Given the description of an element on the screen output the (x, y) to click on. 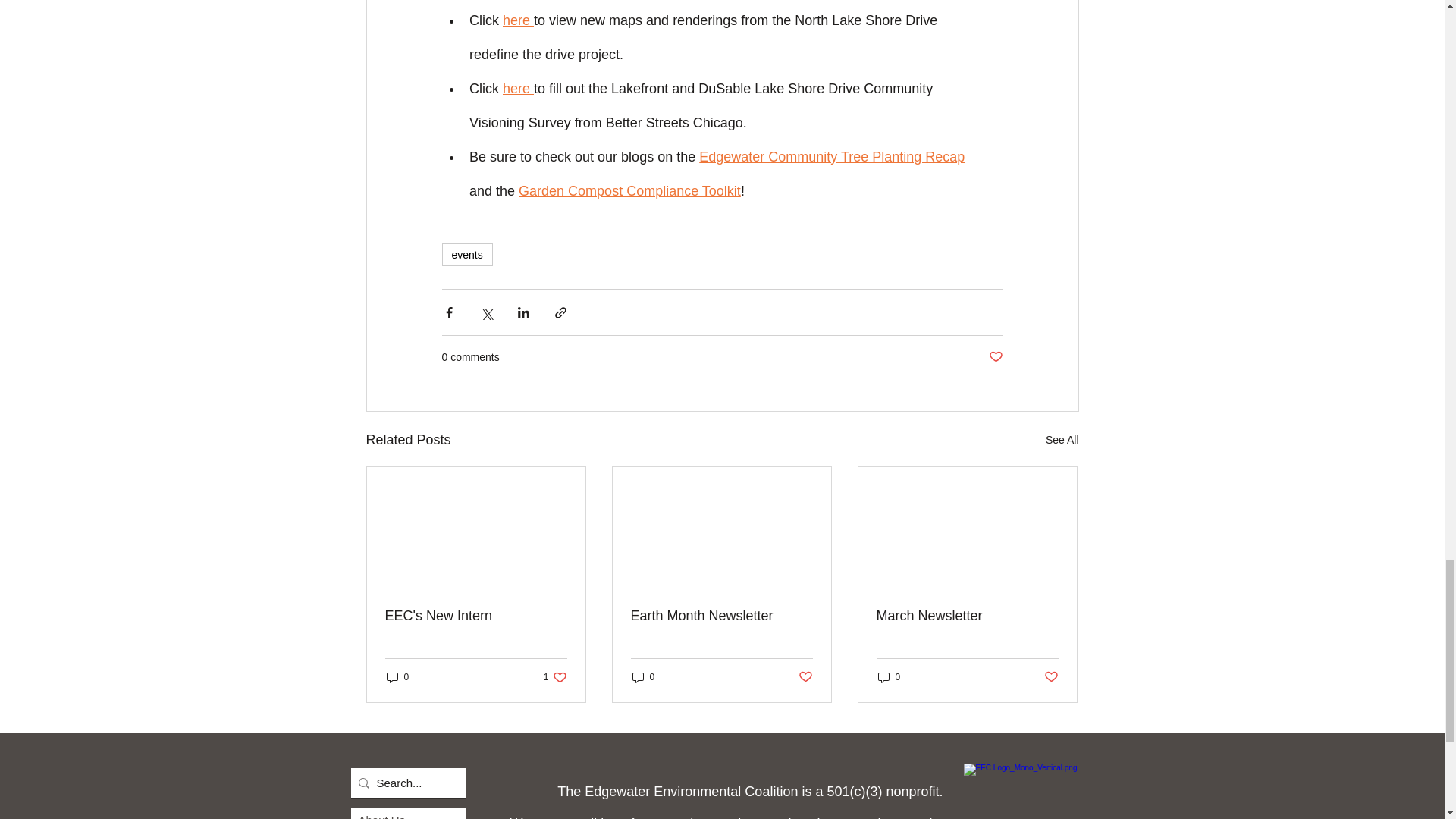
Home (1027, 791)
